Given the description of an element on the screen output the (x, y) to click on. 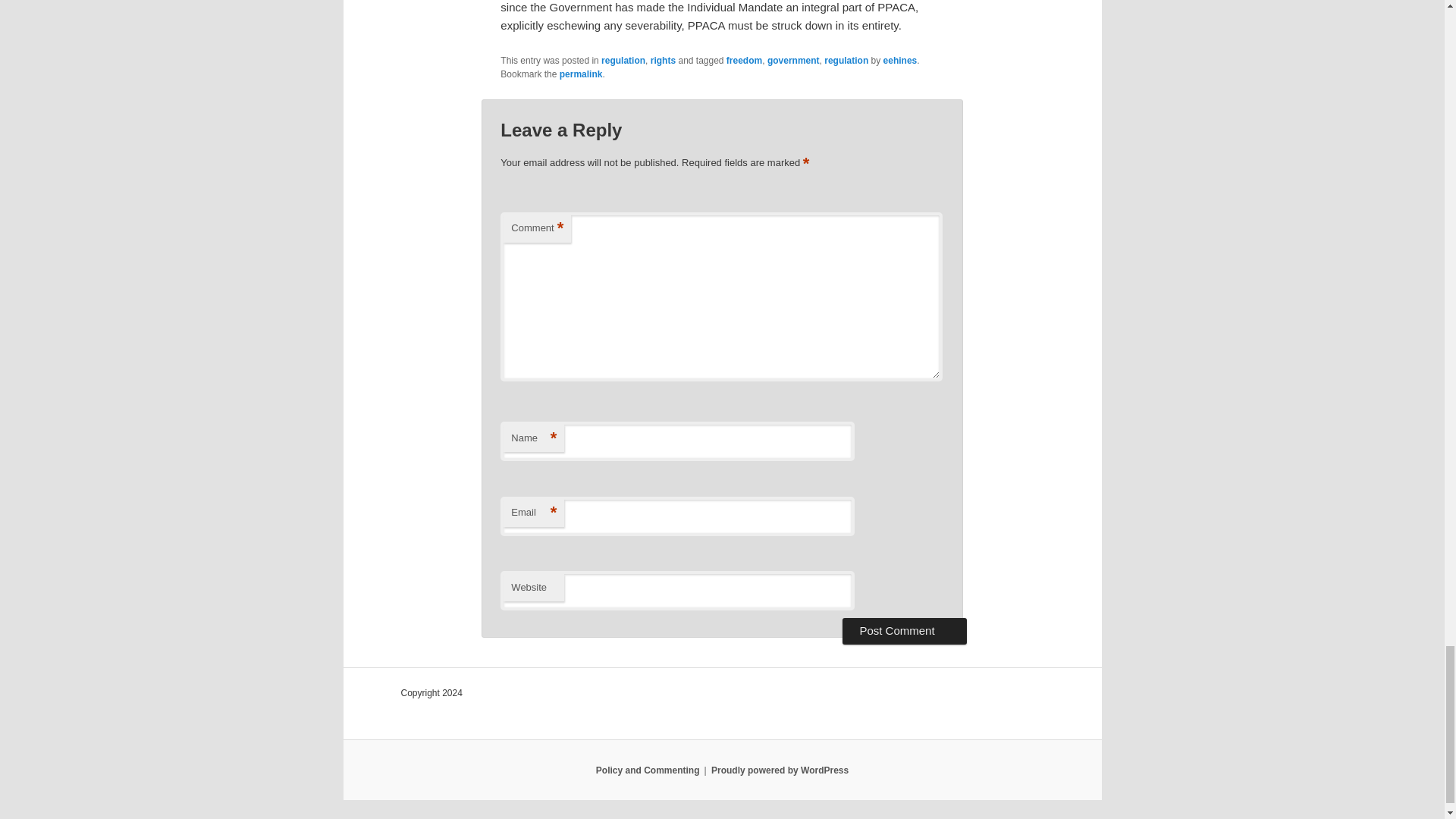
regulation (623, 60)
government (793, 60)
rights (662, 60)
regulation (845, 60)
eehines (900, 60)
Post Comment (904, 630)
freedom (743, 60)
Proudly powered by WordPress (779, 769)
Semantic Personal Publishing Platform (779, 769)
Permalink to Some Thoughts on Obamacare (580, 73)
